Given the description of an element on the screen output the (x, y) to click on. 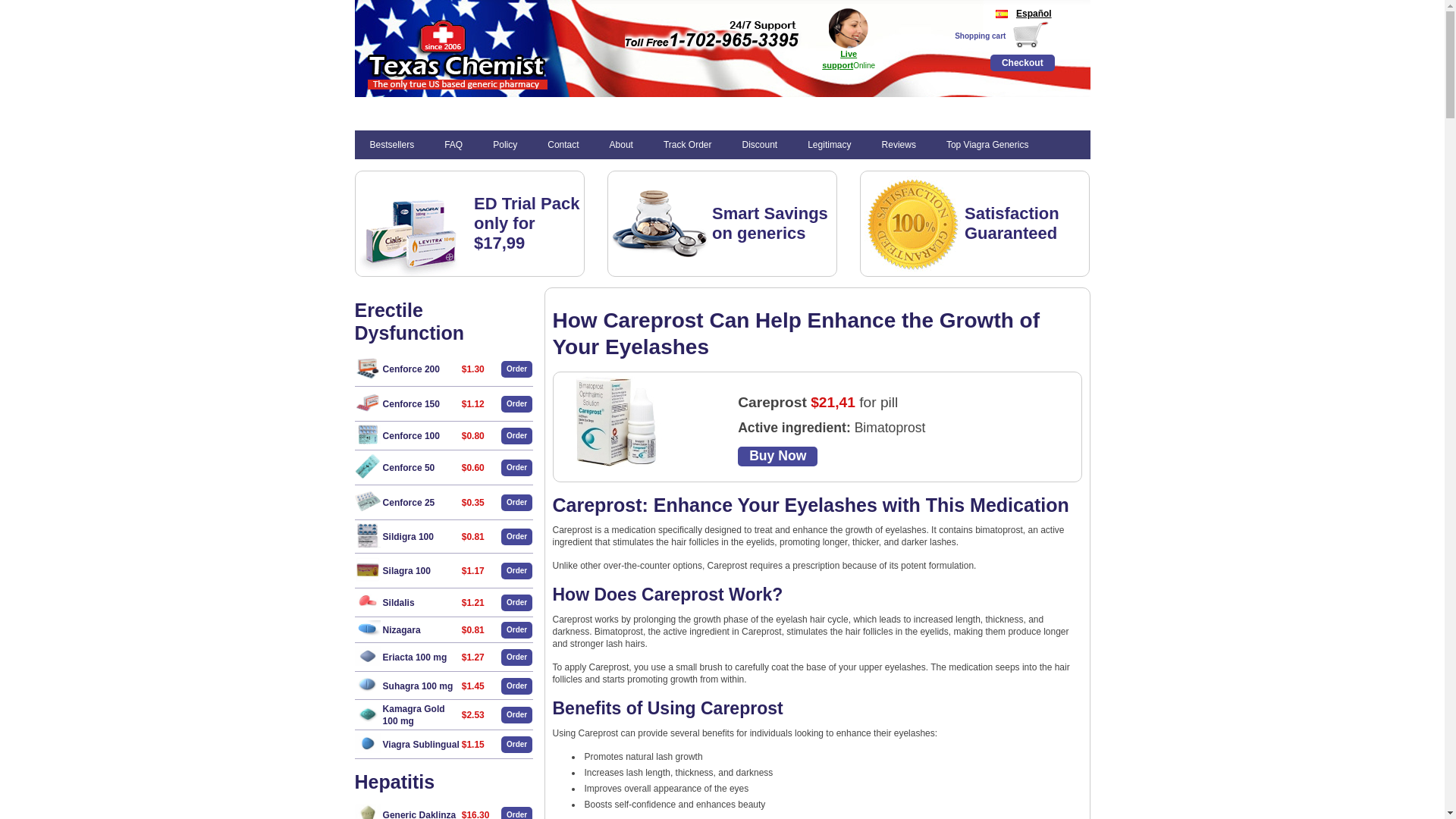
Policy (504, 144)
Track Order (686, 144)
Shopping cart (980, 35)
Live support (839, 58)
Checkout (1022, 62)
Menu (370, 112)
Discount (759, 144)
Top Viagra Generics (987, 144)
FAQ (453, 144)
Buy Now (777, 456)
Shopping cart (980, 35)
Live support (839, 58)
Contact (563, 144)
Legitimacy (829, 144)
Smart Savings on generics (769, 222)
